Given the description of an element on the screen output the (x, y) to click on. 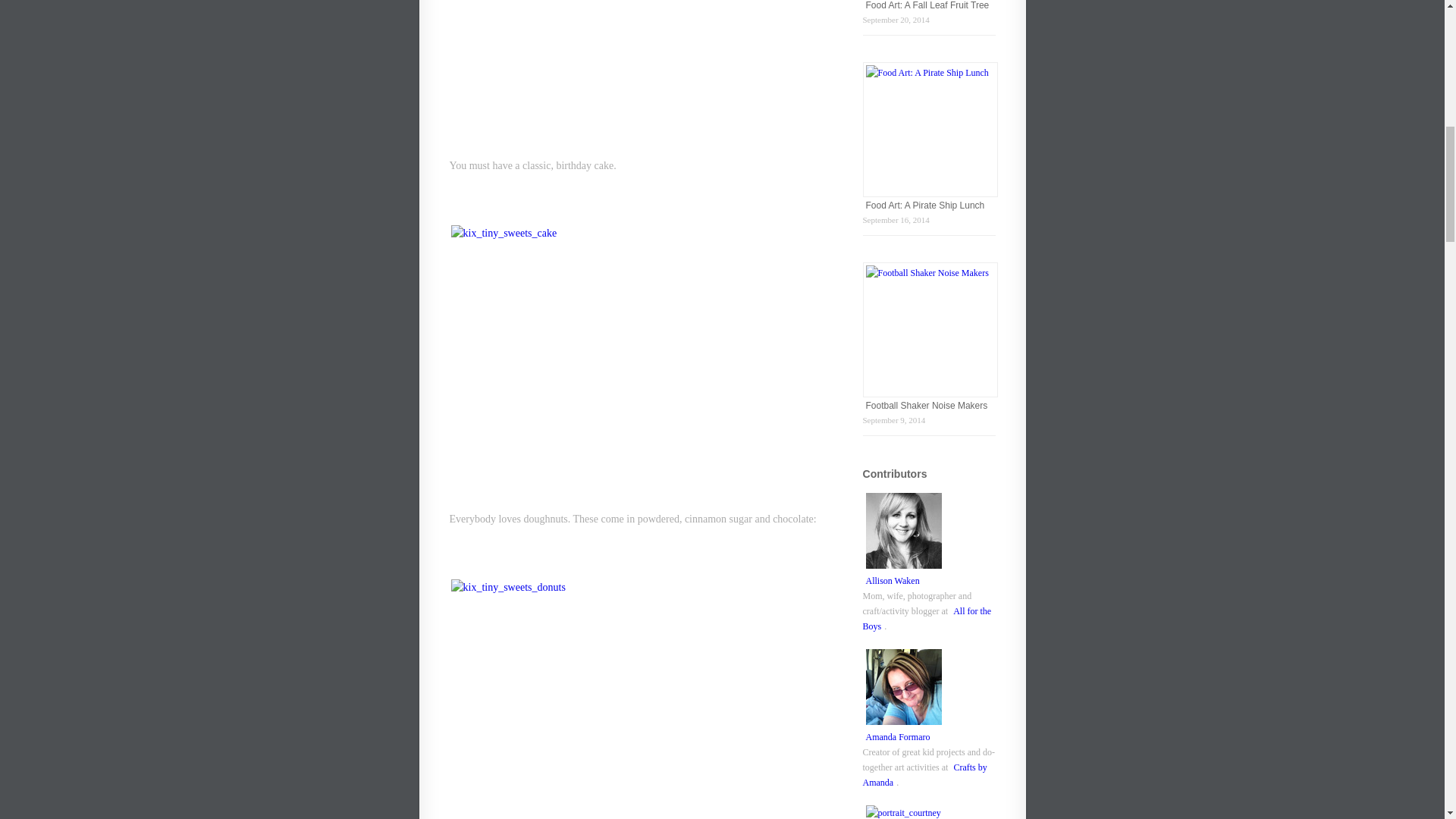
Football Shaker Noise Makers (927, 405)
Food Art: A Pirate Ship Lunch (925, 205)
Allison Waken (893, 581)
Food Art: A Fall Leaf Fruit Tree (927, 6)
Amanda Formaro (898, 736)
All for the Boys (927, 618)
